Given the description of an element on the screen output the (x, y) to click on. 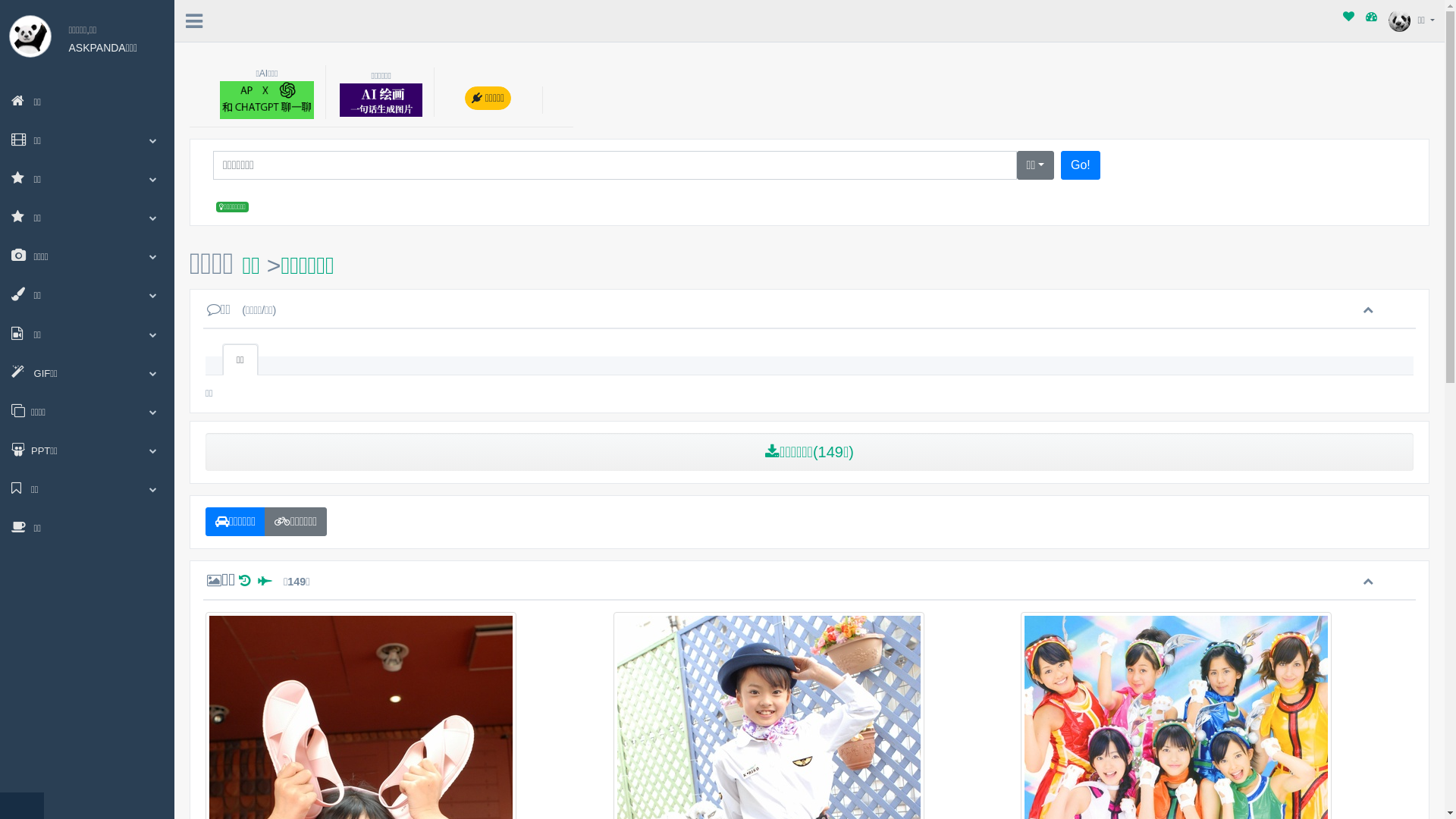
Go! Element type: text (1080, 164)
